Given the description of an element on the screen output the (x, y) to click on. 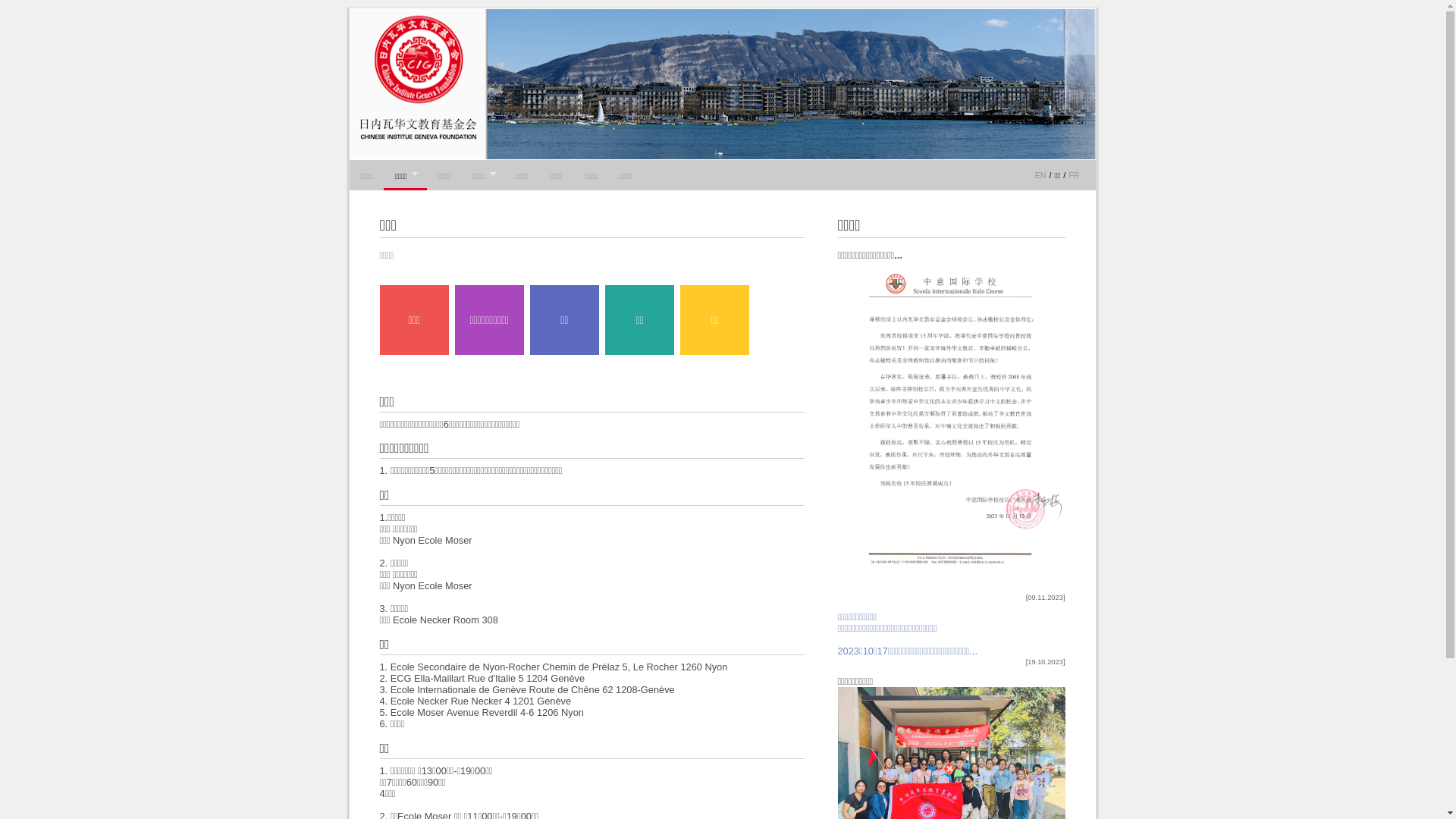
FR Element type: text (1073, 174)
[09.11.2023] Element type: text (950, 597)
EN Element type: text (1040, 174)
